Given the description of an element on the screen output the (x, y) to click on. 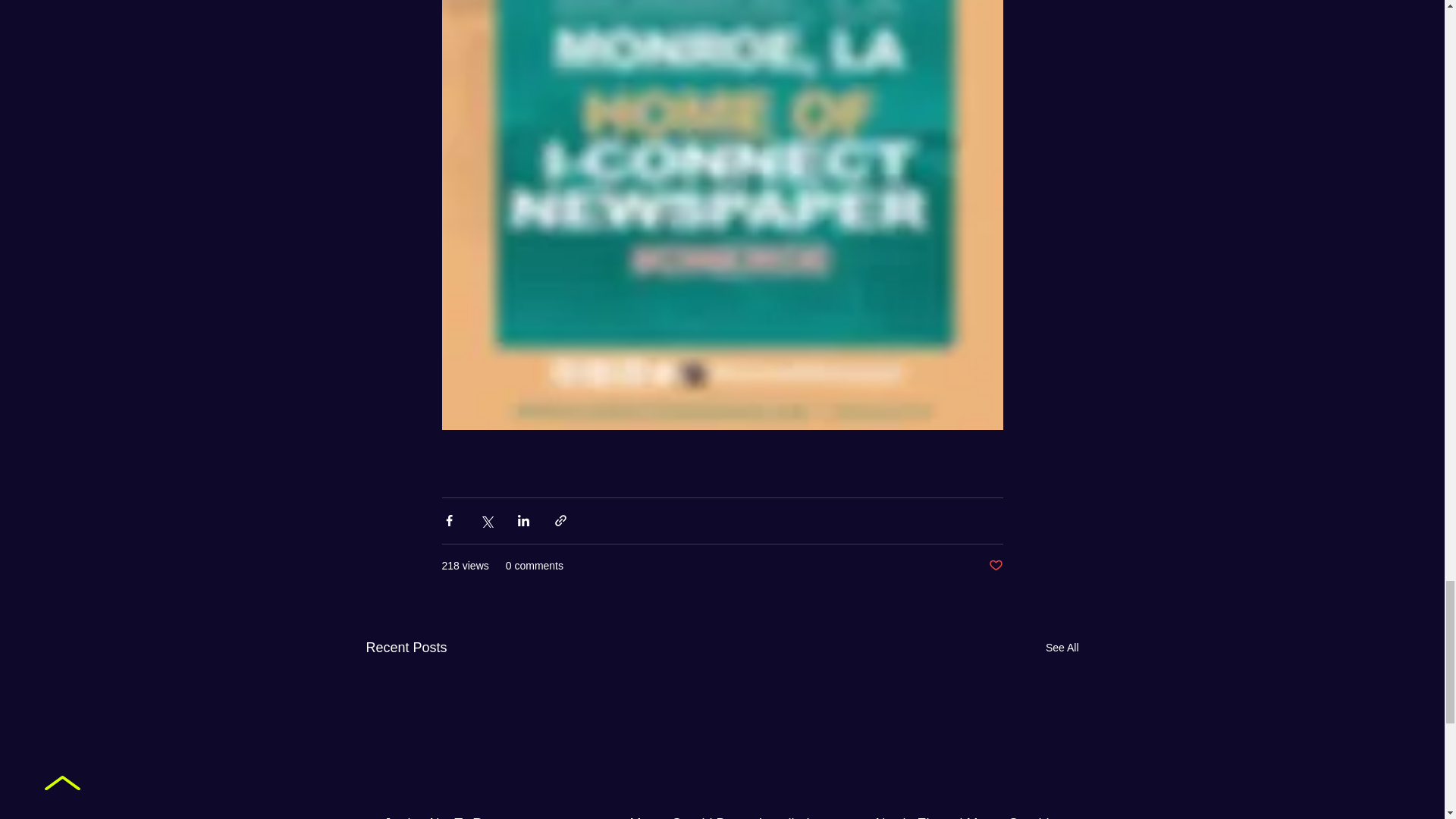
Post not marked as liked (995, 565)
See All (1061, 648)
